Given the description of an element on the screen output the (x, y) to click on. 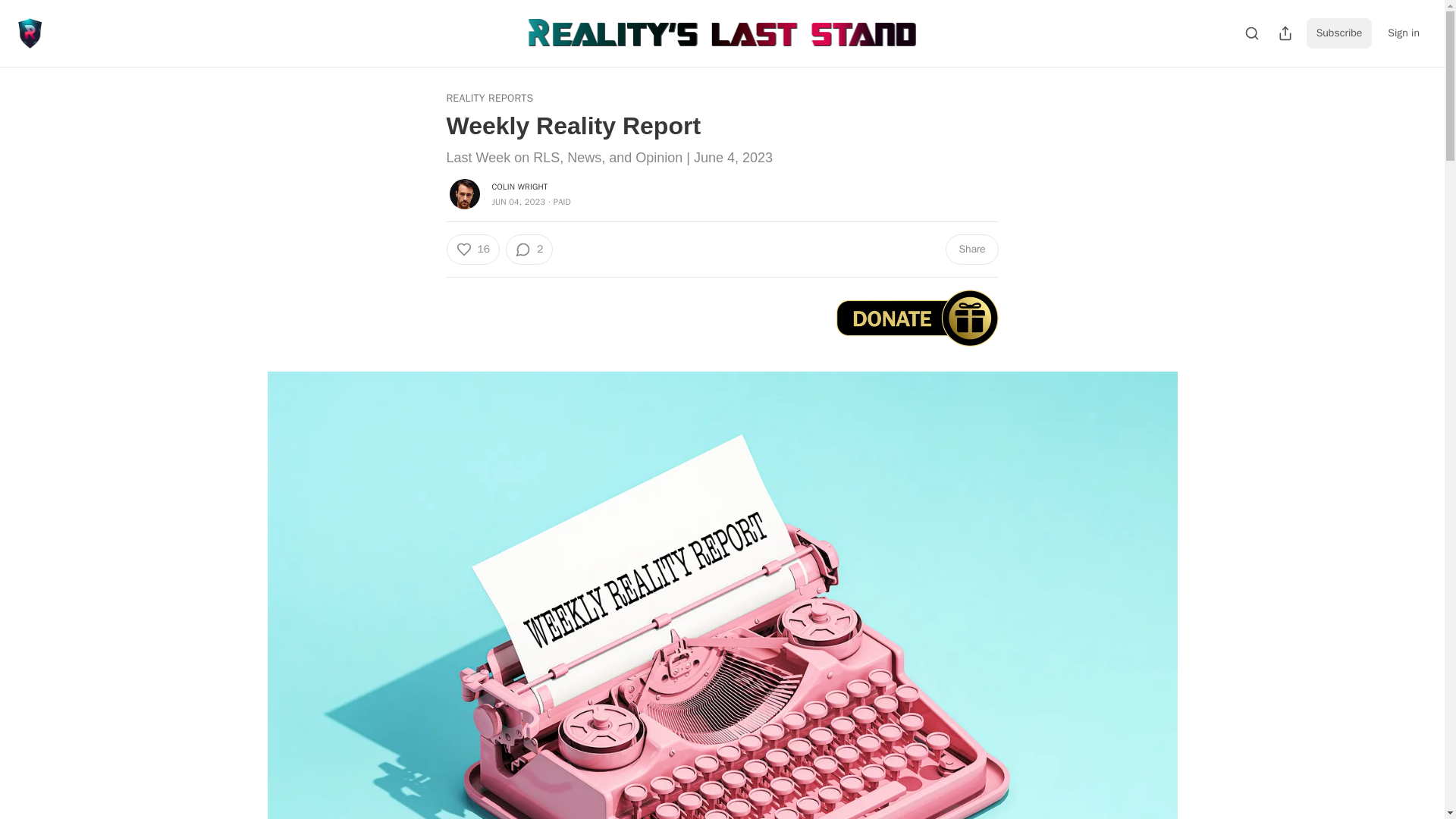
Sign in (1403, 33)
Subscribe (1339, 33)
COLIN WRIGHT (519, 185)
Share (970, 249)
16 (472, 249)
REALITY REPORTS (488, 98)
2 (529, 249)
